Given the description of an element on the screen output the (x, y) to click on. 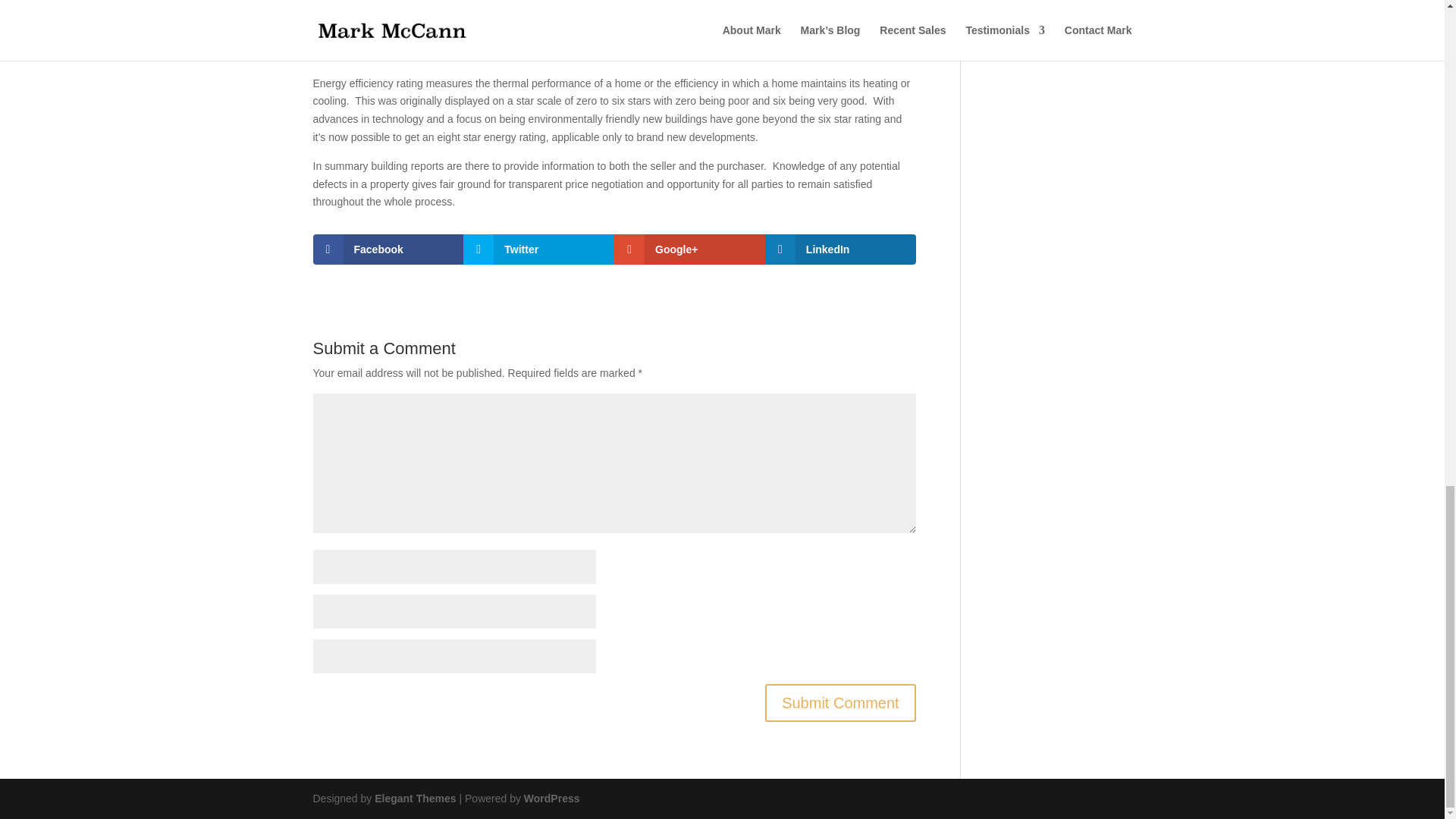
LinkedIn (840, 249)
Facebook (388, 249)
WordPress (551, 798)
Elegant Themes (414, 798)
Premium WordPress Themes (414, 798)
Submit Comment (840, 702)
Twitter (538, 249)
Submit Comment (840, 702)
